Given the description of an element on the screen output the (x, y) to click on. 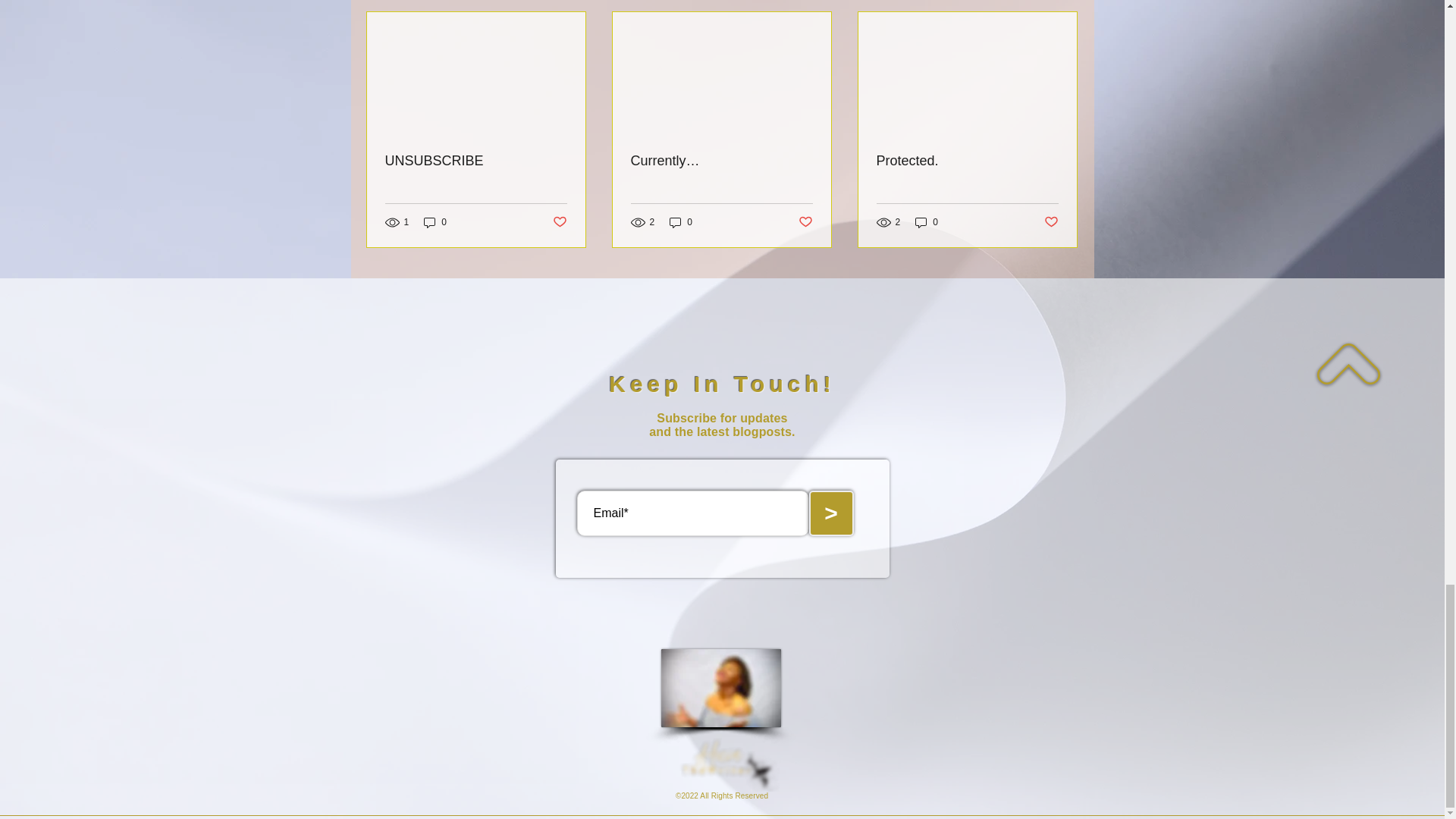
Post not marked as liked (1050, 222)
Post not marked as liked (558, 222)
0 (435, 221)
0 (926, 221)
0 (681, 221)
UNSUBSCRIBE (476, 160)
Protected. (967, 160)
Post not marked as liked (804, 222)
